Given the description of an element on the screen output the (x, y) to click on. 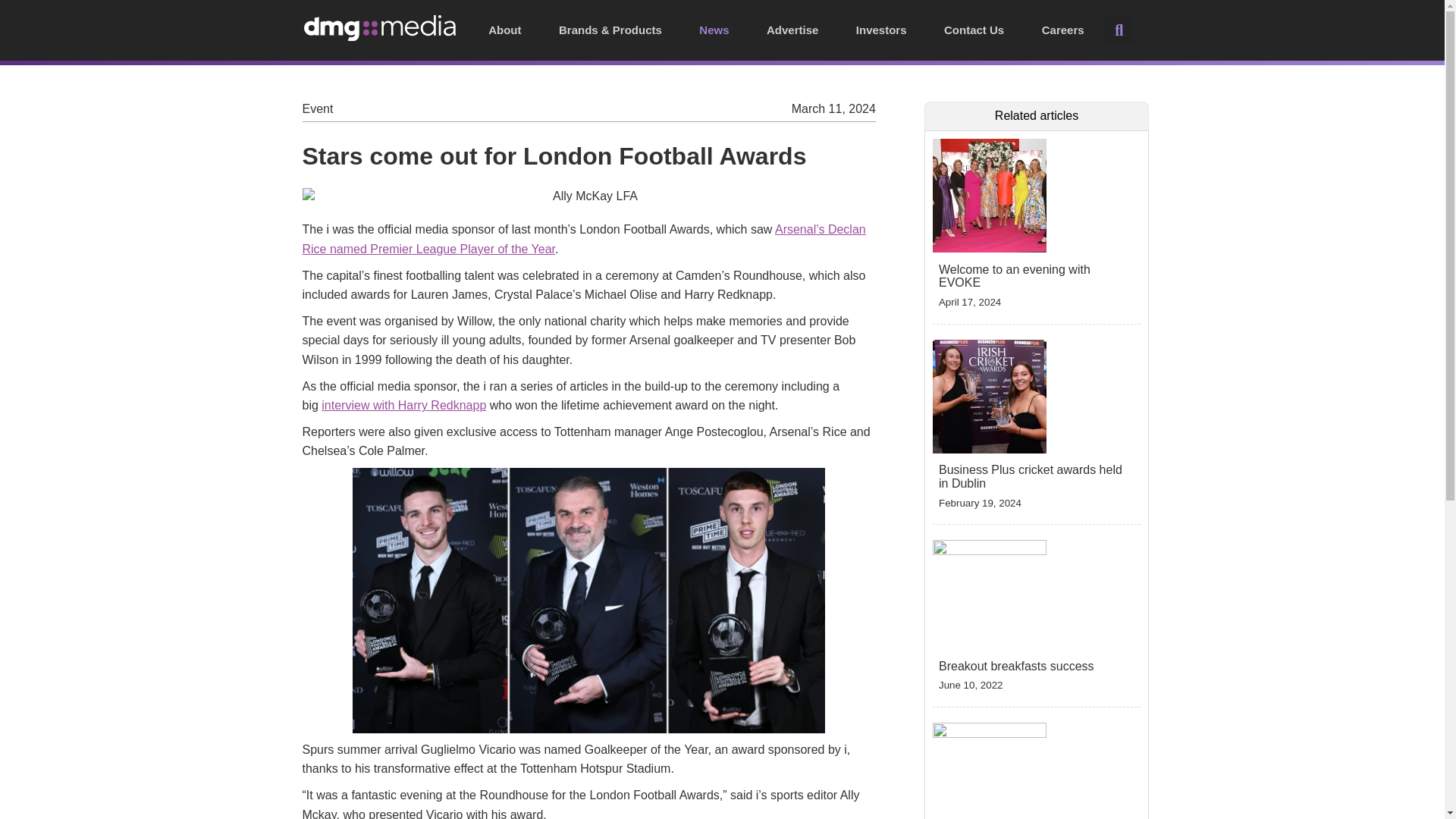
Ally McKay LFA (588, 196)
